Given the description of an element on the screen output the (x, y) to click on. 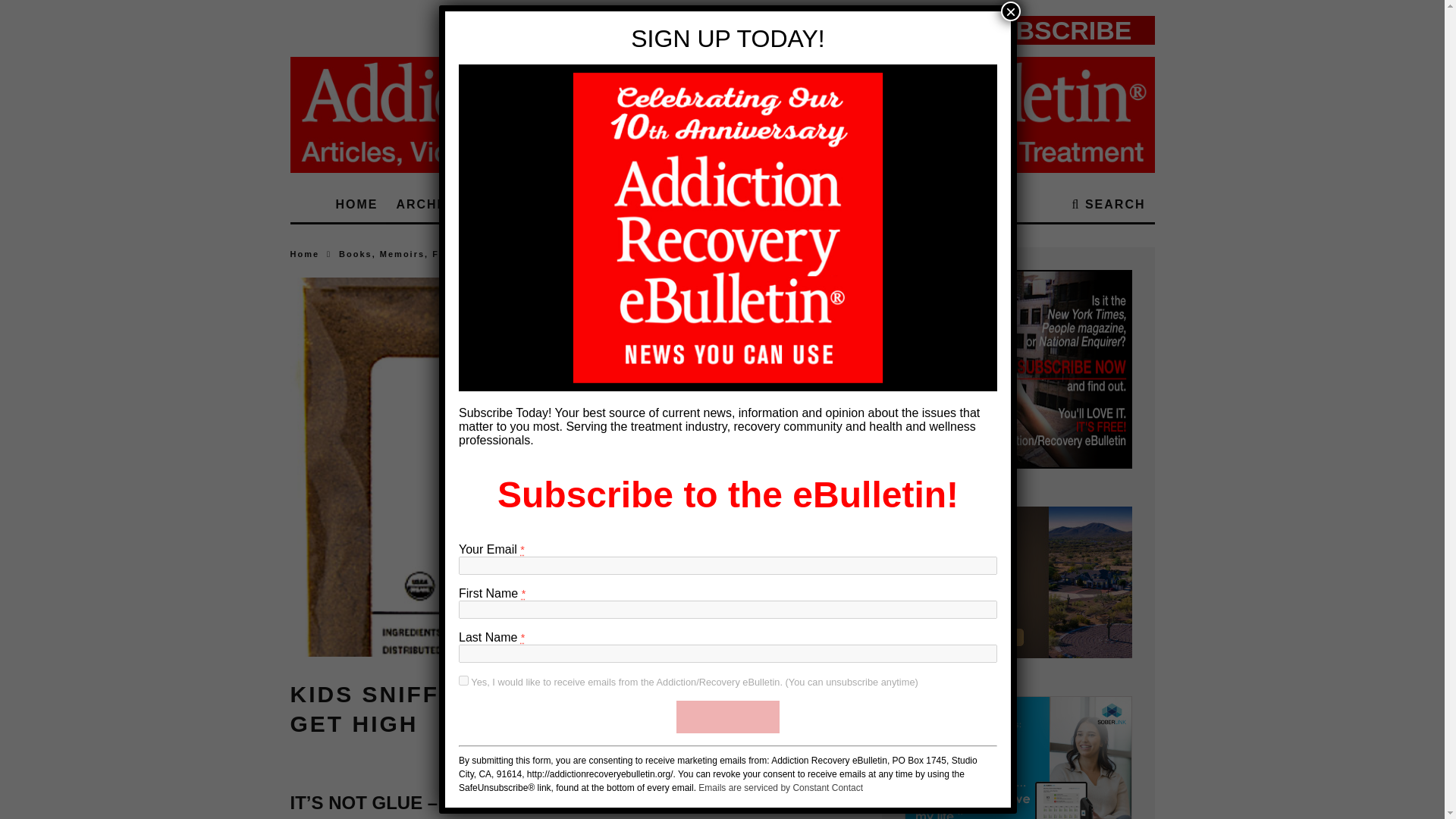
SUBSCRIBE (727, 717)
Search (1108, 204)
View all posts in Books, Memoirs, Films, and Media (431, 253)
1 (463, 680)
